Given the description of an element on the screen output the (x, y) to click on. 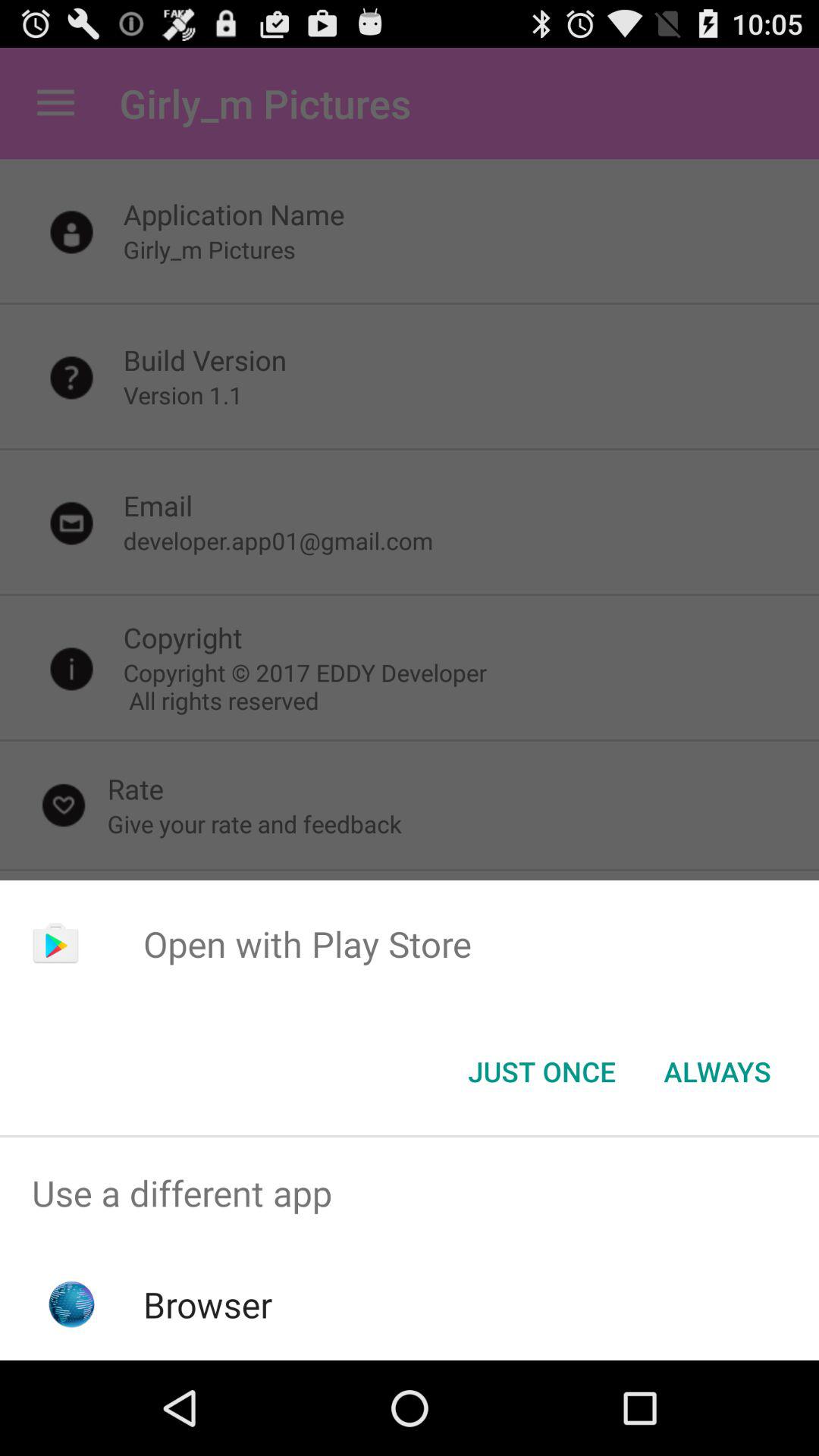
tap icon at the bottom right corner (717, 1071)
